Given the description of an element on the screen output the (x, y) to click on. 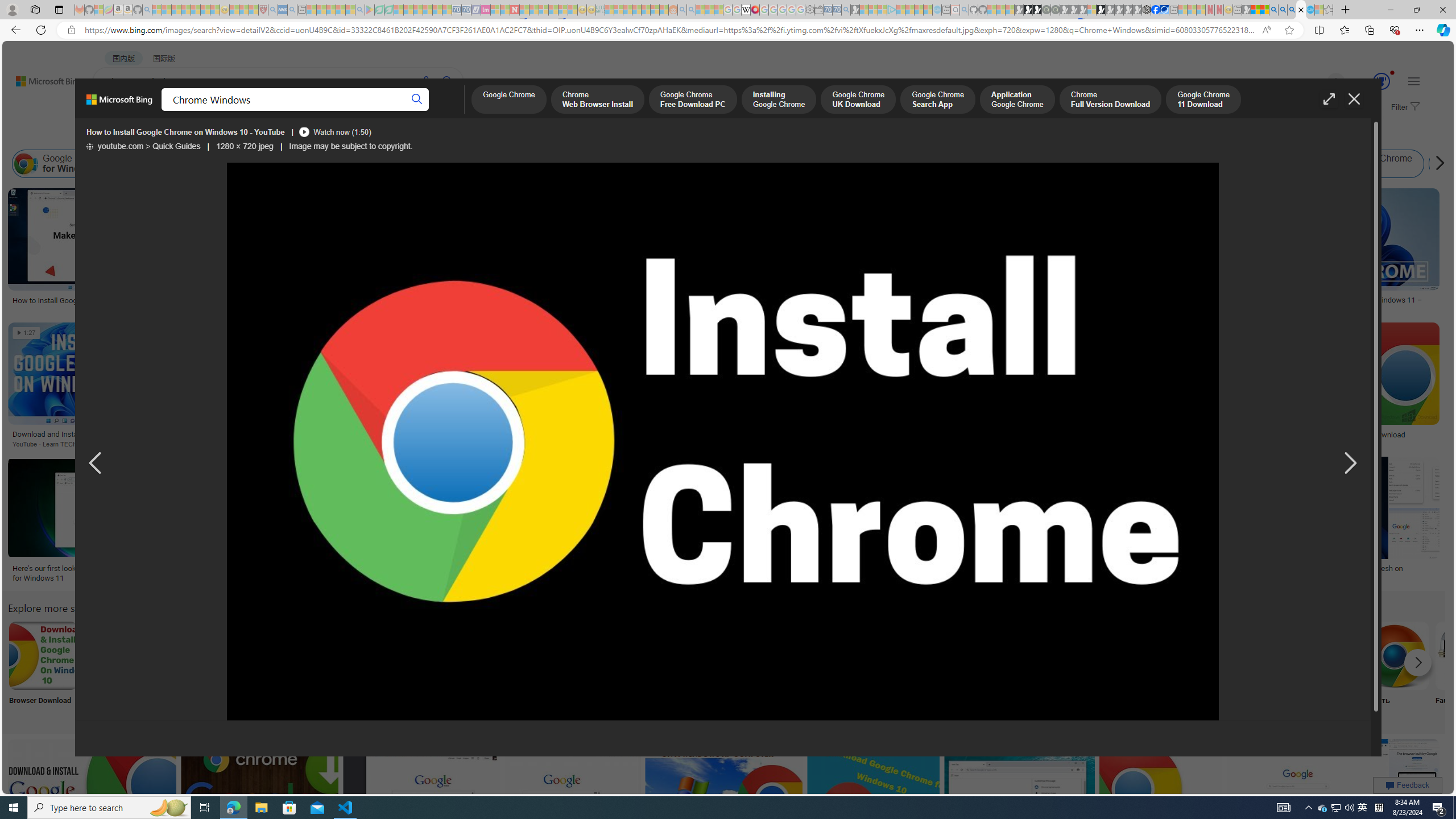
MSNBC - MSN - Sleeping (608, 9)
MY BING (156, 111)
Download for PC (794, 669)
Chrome apk+Download (118, 654)
Date (336, 135)
Chrome Search Engine Search Engine (268, 669)
New tab - Sleeping (1236, 9)
How to download Chrome on Windows 10 (1139, 568)
IMAGES (205, 111)
